Given the description of an element on the screen output the (x, y) to click on. 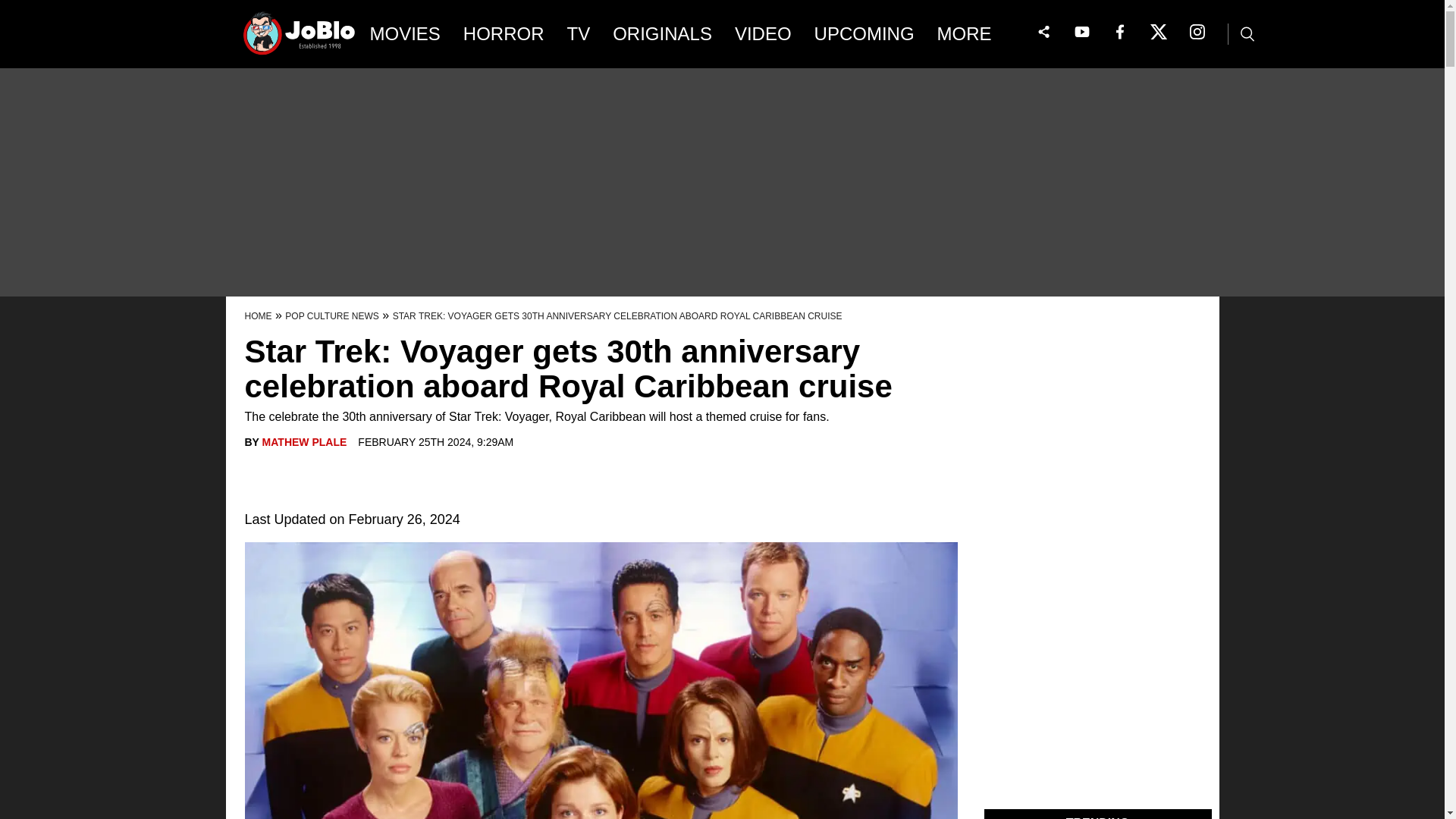
TV (578, 34)
MOVIES (405, 34)
UPCOMING (863, 34)
VIDEO (762, 34)
MORE (976, 34)
ORIGINALS (662, 34)
JoBlo Logo (299, 38)
Go (13, 7)
HORROR (503, 34)
